Given the description of an element on the screen output the (x, y) to click on. 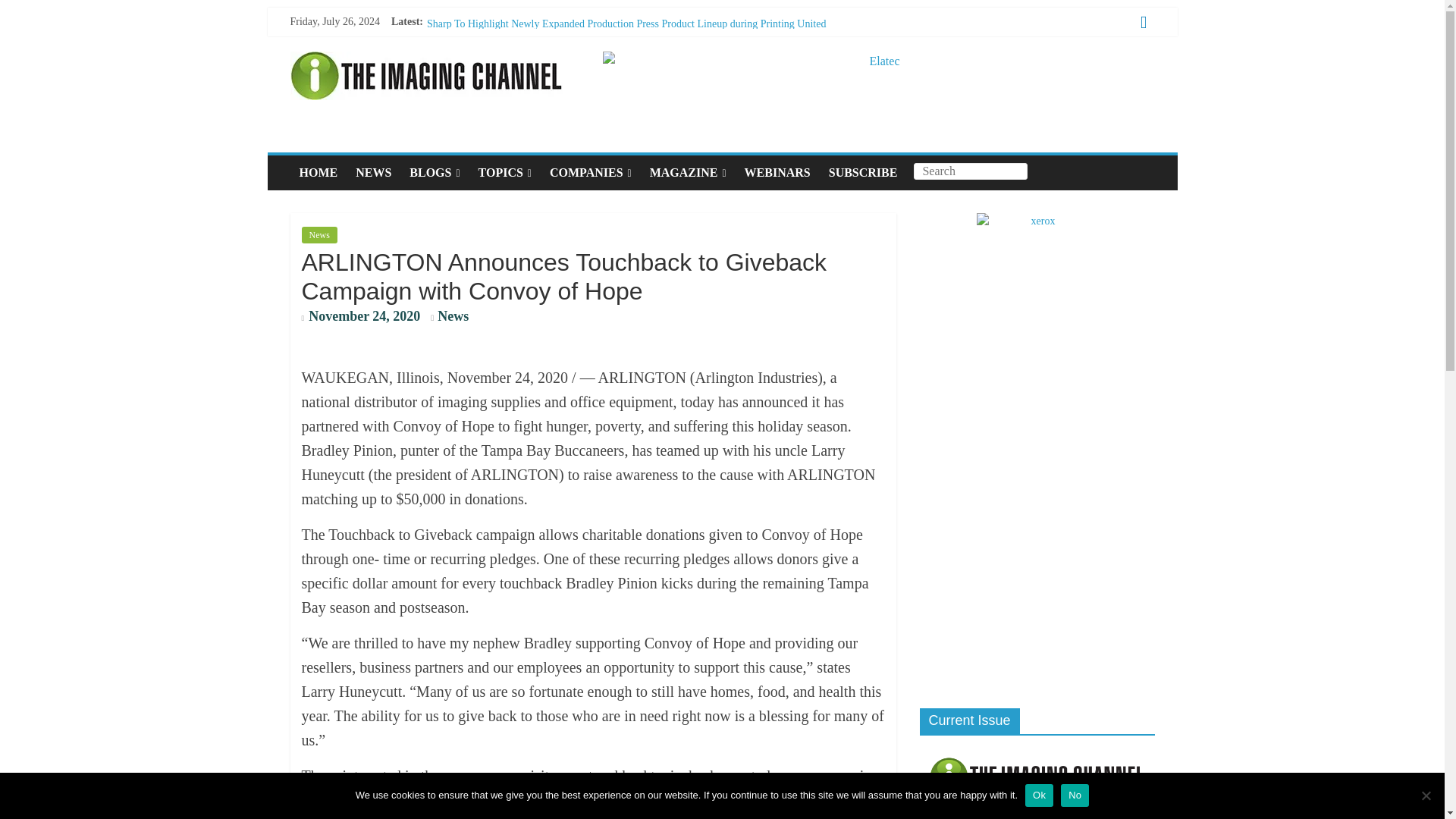
NEWS (373, 172)
2:26 pm (360, 317)
BLOGS (434, 172)
TOPICS (504, 172)
News (453, 315)
COMPANIES (590, 172)
HOME (317, 172)
